Given the description of an element on the screen output the (x, y) to click on. 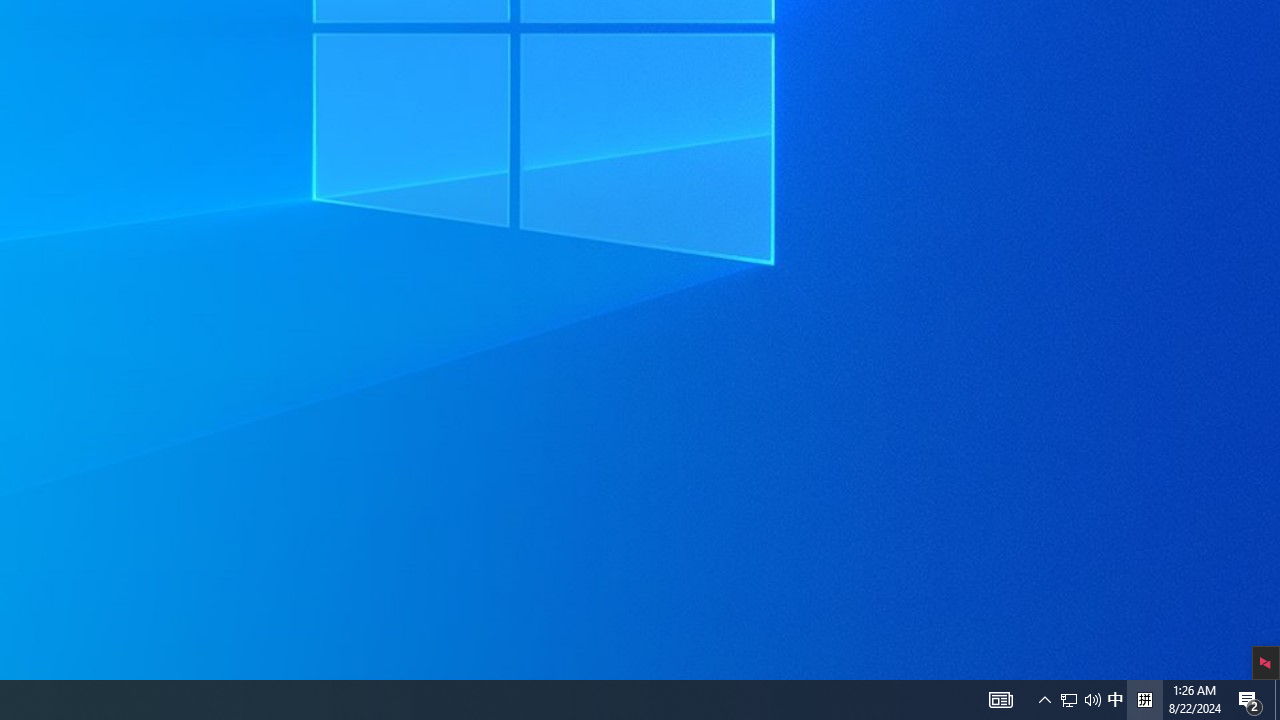
Q2790: 100% (1092, 699)
Notification Chevron (1044, 699)
User Promoted Notification Area (1069, 699)
Show desktop (1115, 699)
AutomationID: 4105 (1080, 699)
Action Center, 2 new notifications (1277, 699)
Tray Input Indicator - Chinese (Simplified, China) (1000, 699)
